Given the description of an element on the screen output the (x, y) to click on. 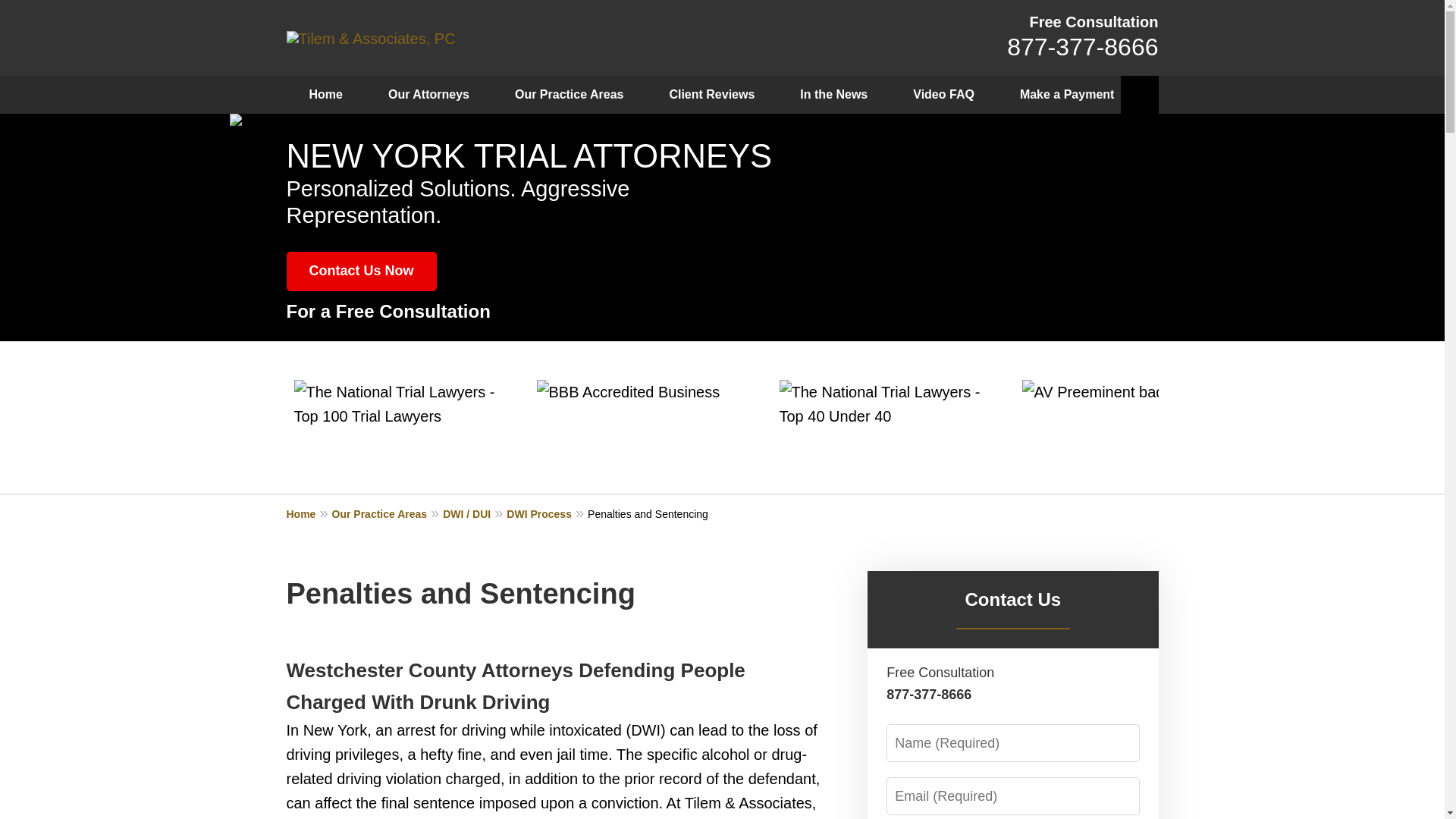
Video FAQ (943, 94)
DWI Process (547, 513)
Our Practice Areas (569, 94)
Contact Us Now (361, 271)
Contact Us (1012, 598)
In the News (833, 94)
Home (308, 513)
Our Practice Areas (387, 513)
Make a Payment (1067, 94)
Client Reviews (711, 94)
